Given the description of an element on the screen output the (x, y) to click on. 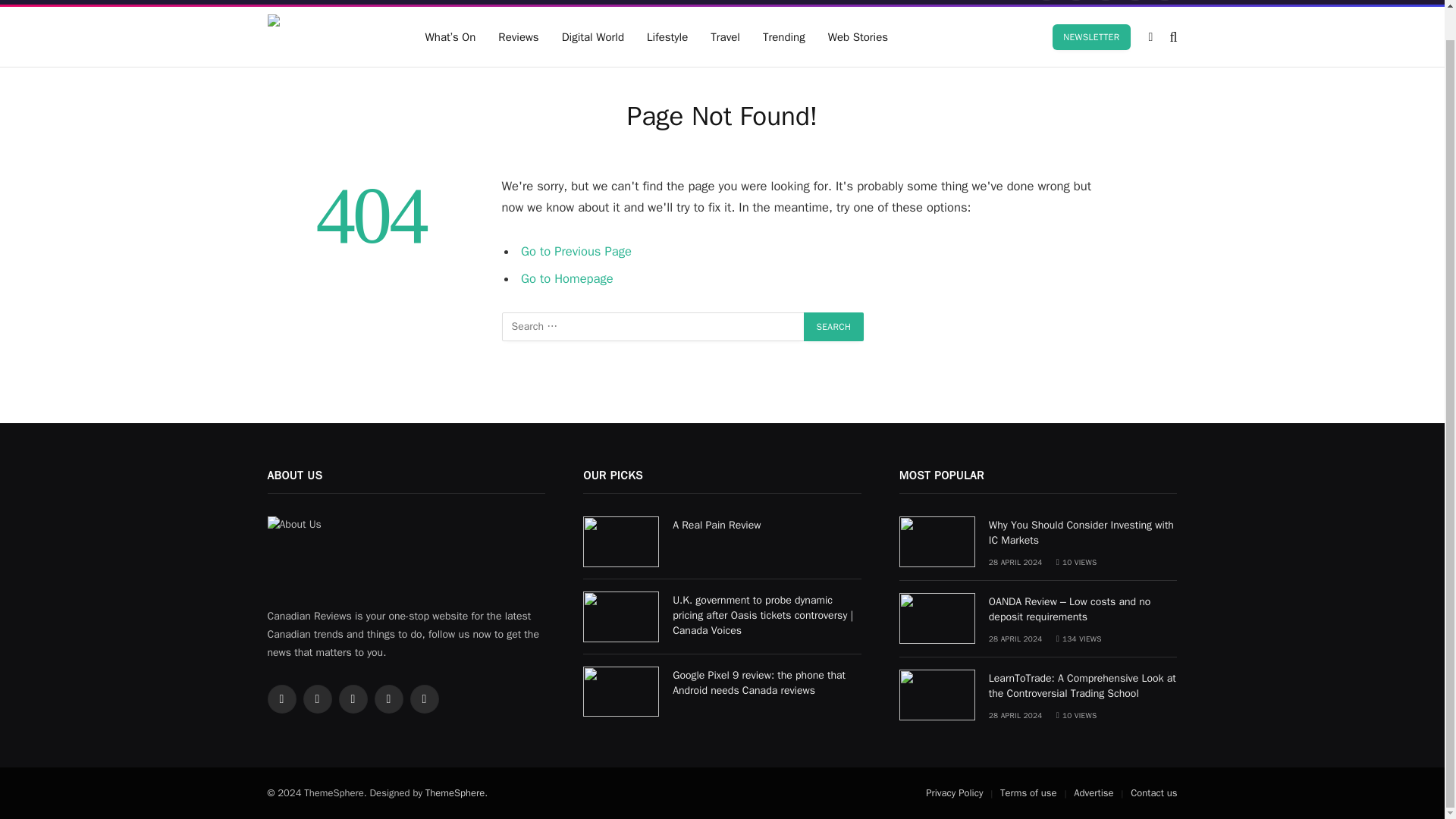
Reviews (518, 36)
Search (833, 326)
Contact us (487, 2)
Digital World (592, 36)
Advertise (425, 2)
Terms (371, 2)
